Given the description of an element on the screen output the (x, y) to click on. 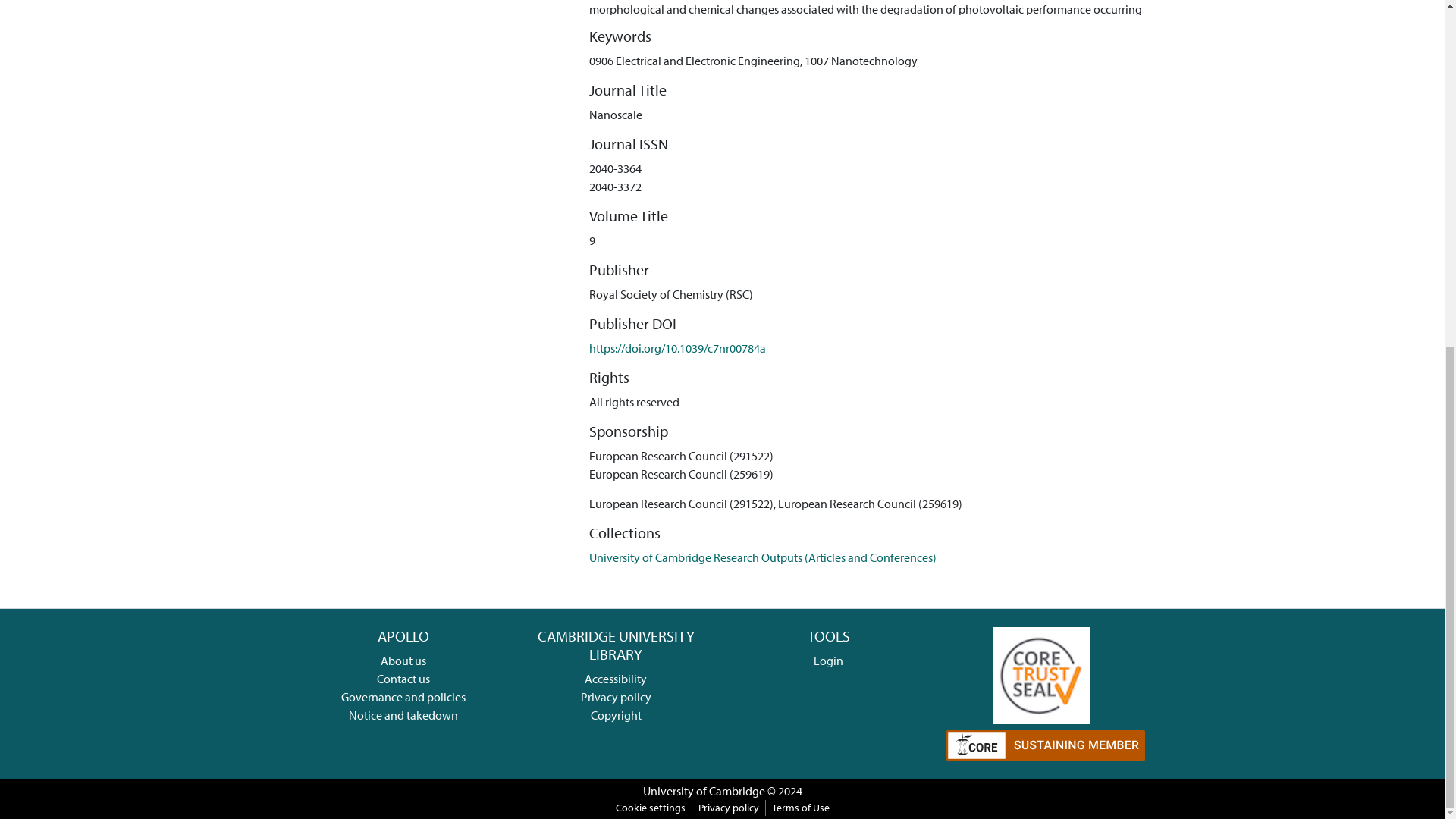
Governance and policies (402, 696)
Apollo CTS full application (1040, 673)
Accessibility (615, 678)
About us (403, 660)
Privacy policy (615, 696)
Contact us (403, 678)
Notice and takedown (403, 714)
